Given the description of an element on the screen output the (x, y) to click on. 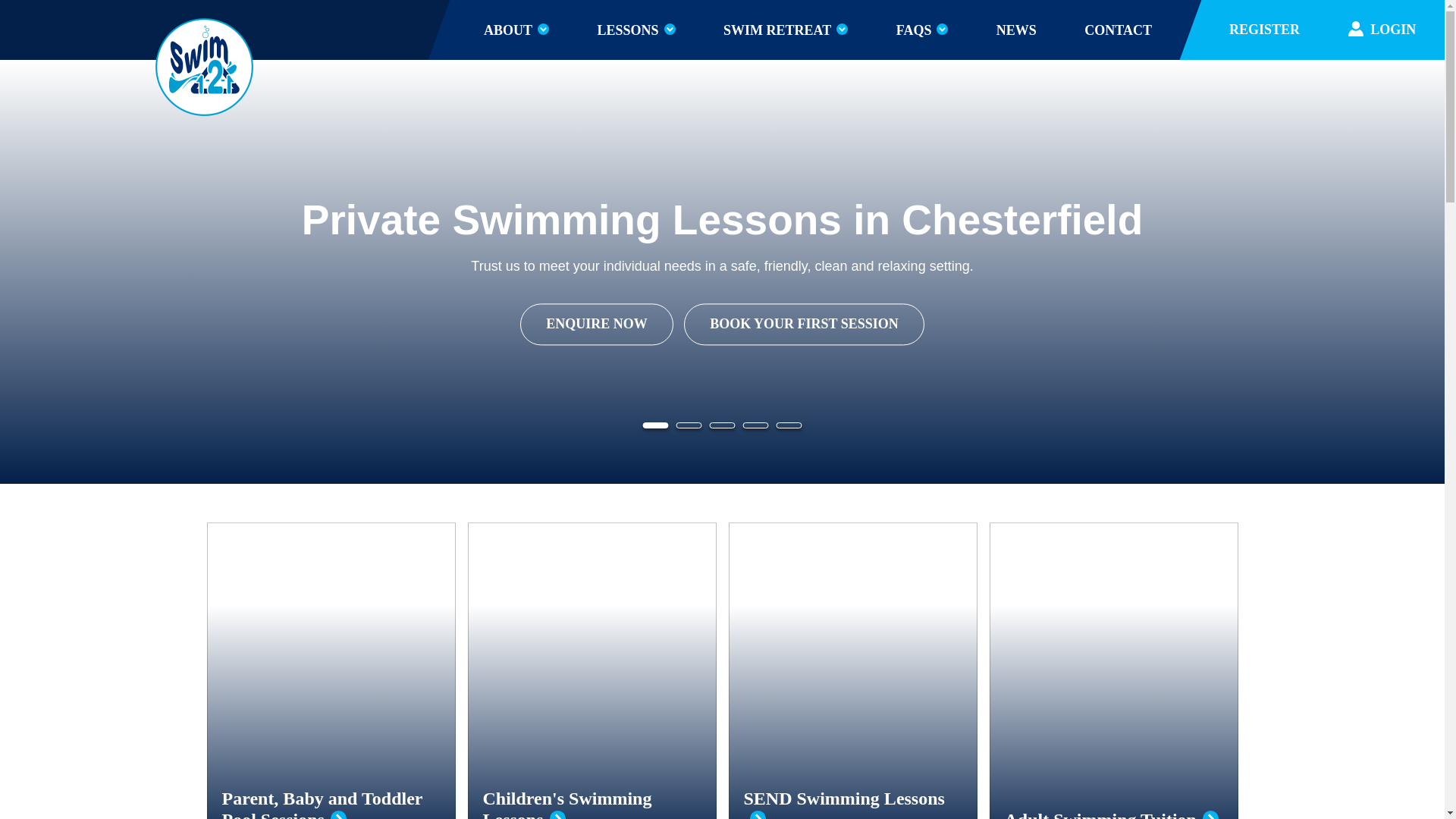
About (515, 30)
NEWS (1015, 30)
CONTACT (1117, 30)
REGISTER (1267, 29)
Swim 121 (203, 66)
Lesson (635, 30)
Register (1267, 29)
